Given the description of an element on the screen output the (x, y) to click on. 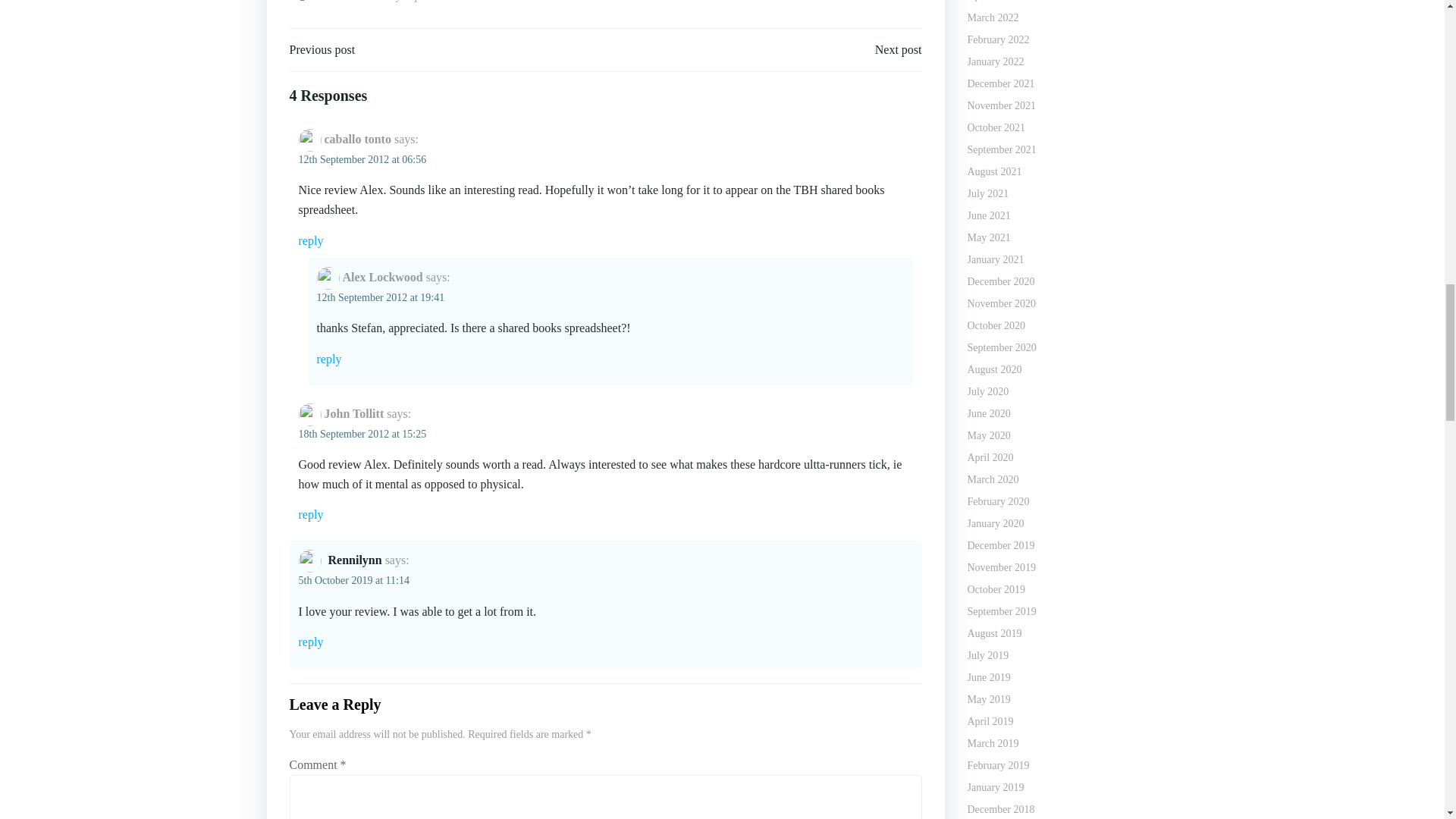
nutrition Tag (338, 2)
ultramarathon Tag (494, 2)
Spartathlon Tag (433, 2)
recovery Tag (382, 2)
